Given the description of an element on the screen output the (x, y) to click on. 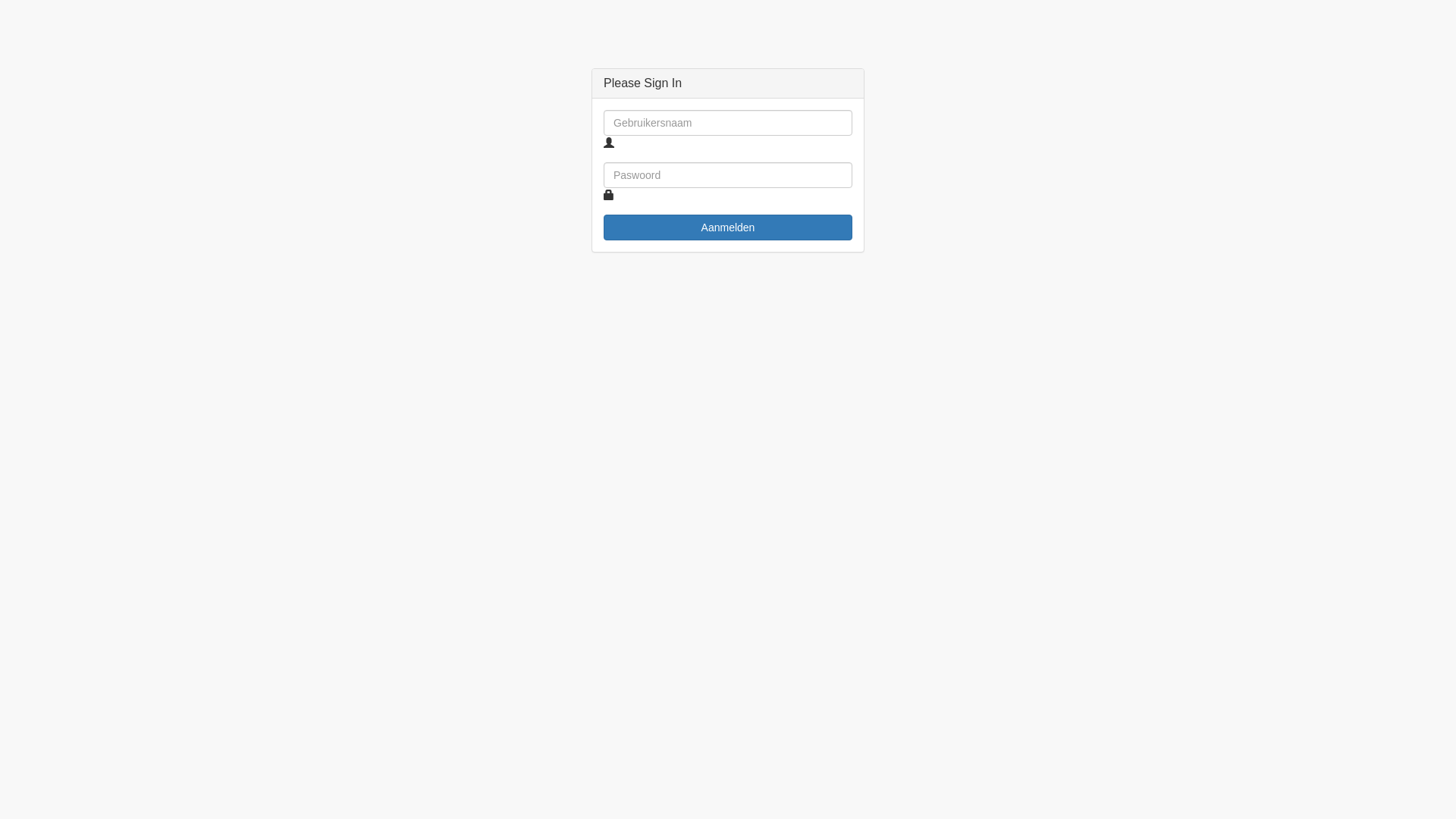
Aanmelden Element type: text (727, 227)
